Given the description of an element on the screen output the (x, y) to click on. 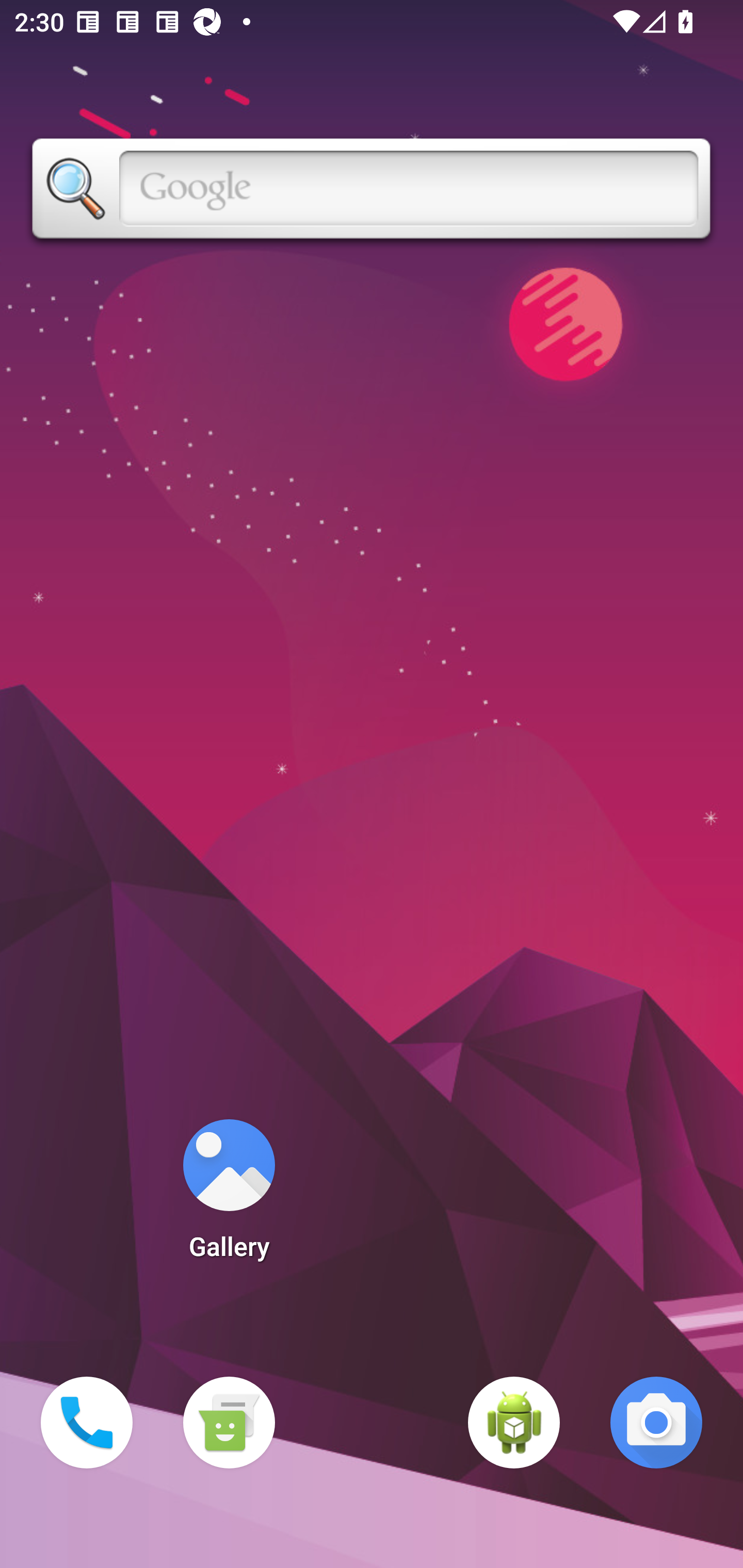
Gallery (228, 1195)
Phone (86, 1422)
Messaging (228, 1422)
WebView Browser Tester (513, 1422)
Camera (656, 1422)
